Given the description of an element on the screen output the (x, y) to click on. 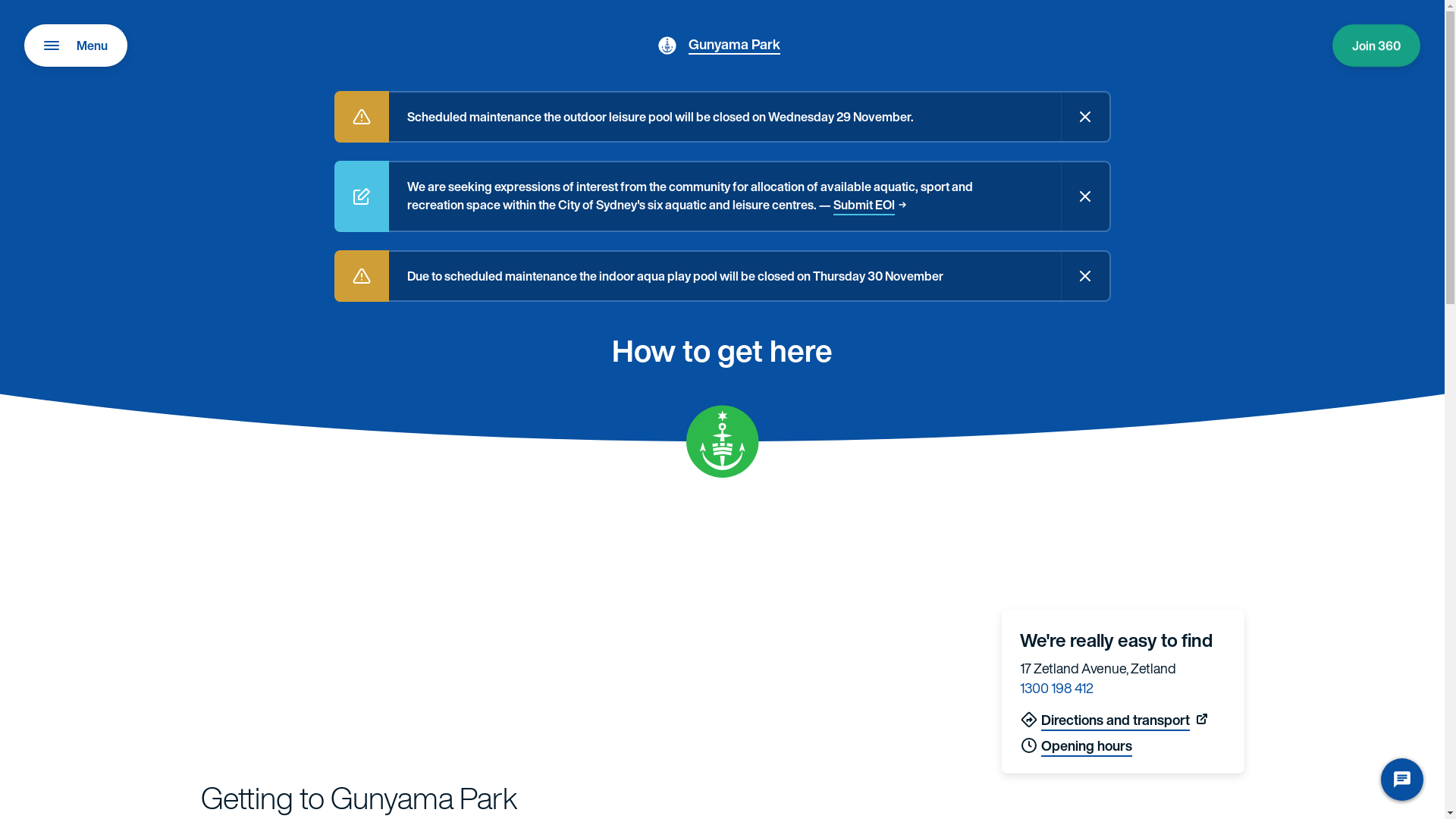
Submit EOI Element type: text (869, 204)
Directions and transport Element type: text (1104, 719)
Close banner Element type: text (1084, 275)
Opening hours Element type: text (1075, 745)
1300 198 412 Element type: text (1055, 687)
Menu
Open menu Element type: text (75, 45)
Close banner Element type: text (1084, 196)
Return to Gunyama Park homepage Element type: hover (667, 45)
Genesys Messenger Launcher Element type: hover (1401, 782)
Gunyama Park Element type: text (734, 43)
Close banner Element type: text (1084, 116)
Join 360 Element type: text (1376, 45)
